Given the description of an element on the screen output the (x, y) to click on. 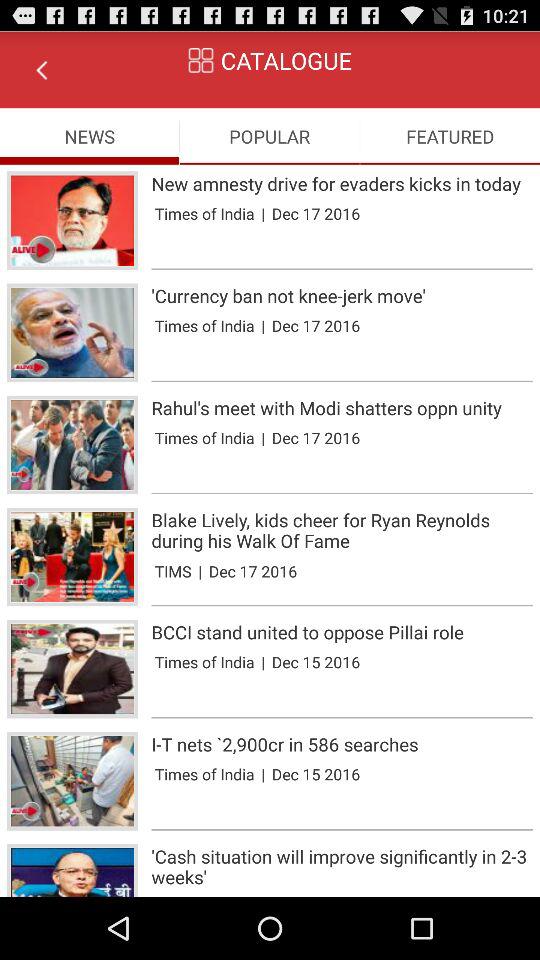
select app below the times of india item (342, 269)
